Given the description of an element on the screen output the (x, y) to click on. 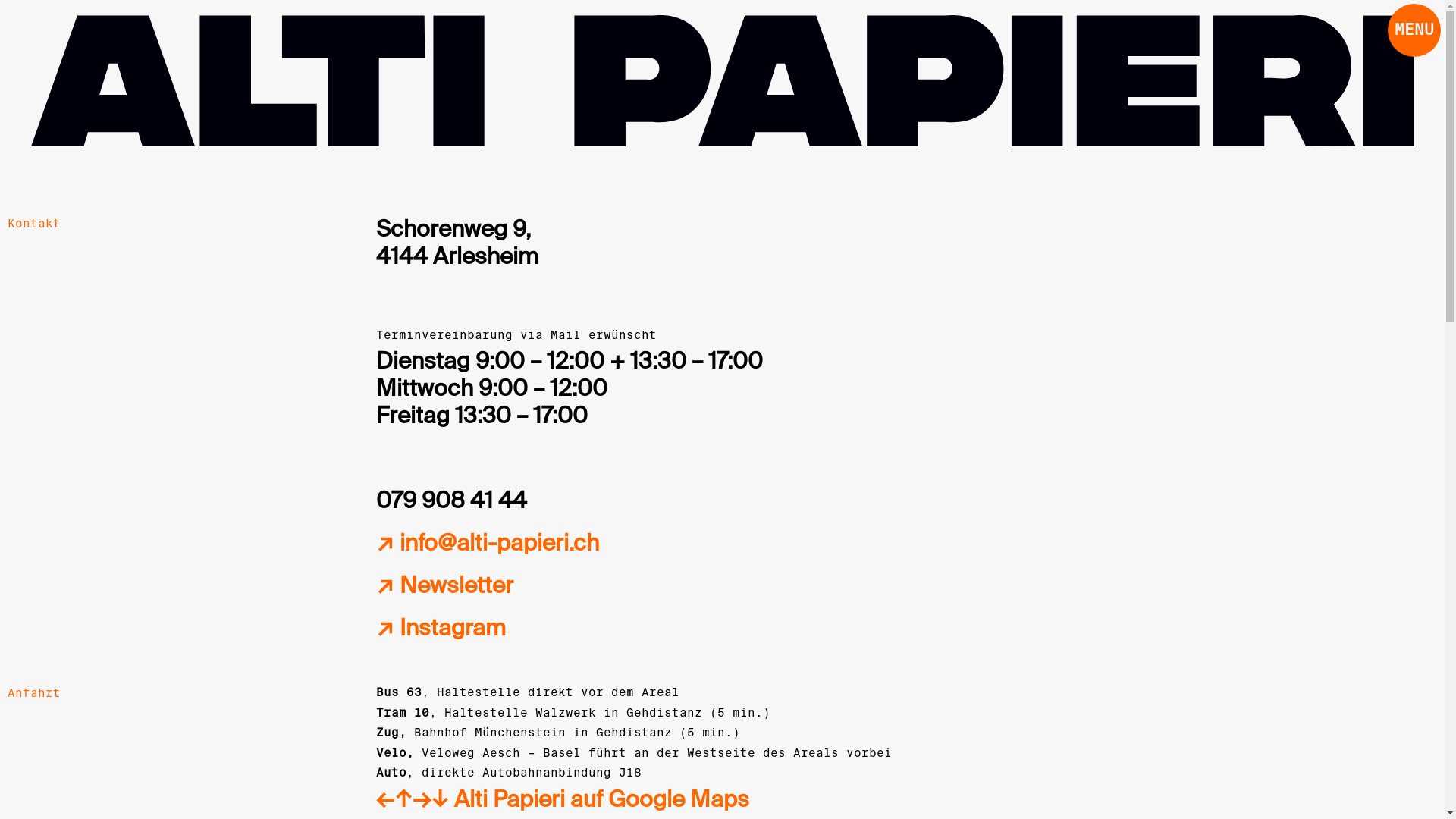
MENU Element type: text (1414, 29)
